Given the description of an element on the screen output the (x, y) to click on. 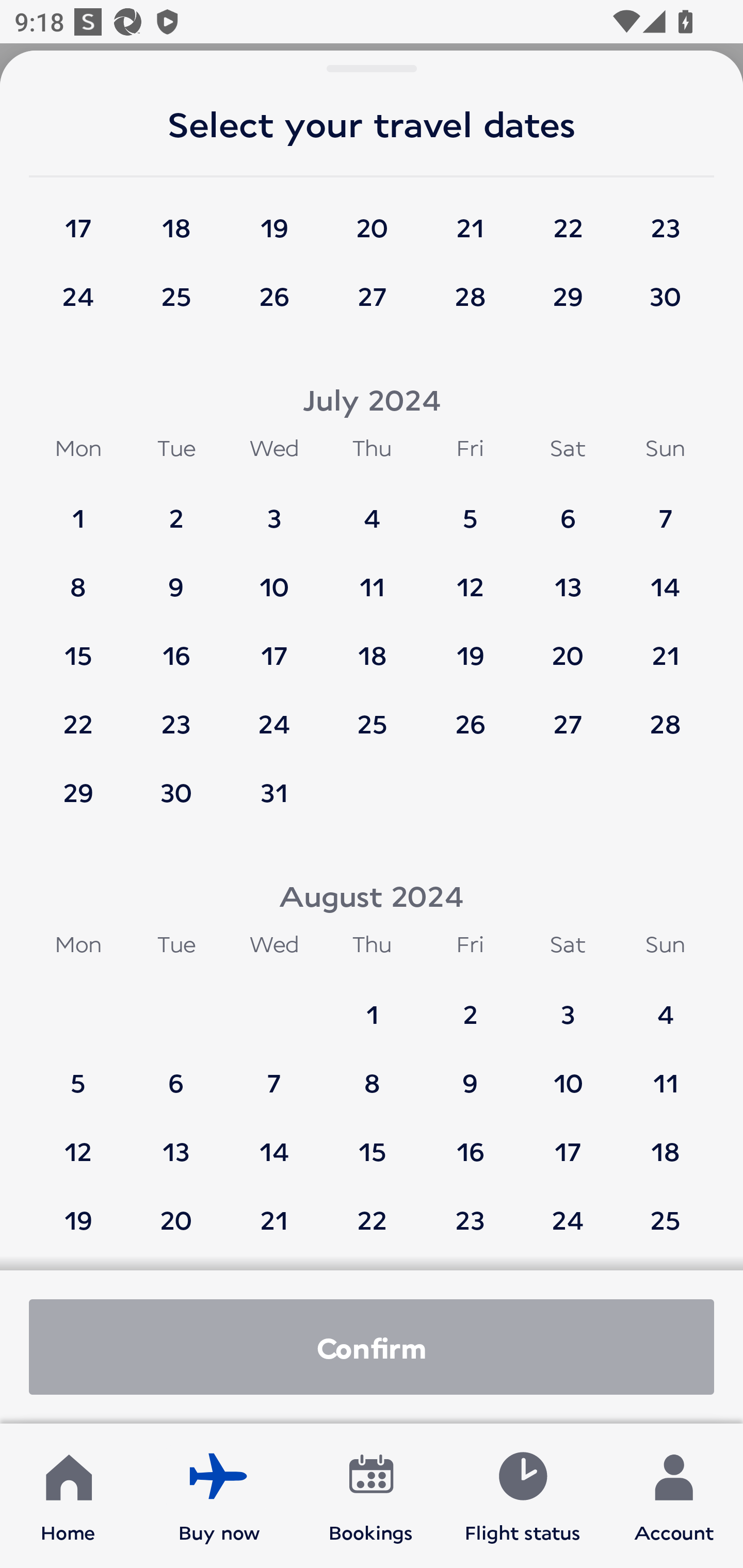
17 (77, 217)
18 (176, 217)
19 (274, 217)
20 (372, 217)
21 (470, 217)
22 (567, 217)
23 (665, 217)
24 (77, 295)
25 (176, 295)
26 (274, 295)
27 (372, 295)
28 (470, 295)
29 (567, 295)
30 (665, 295)
1 (77, 508)
2 (176, 508)
3 (274, 508)
4 (372, 508)
5 (470, 508)
6 (567, 508)
7 (665, 508)
8 (77, 576)
9 (176, 576)
10 (274, 576)
11 (372, 576)
12 (470, 576)
13 (567, 576)
14 (665, 576)
15 (77, 645)
16 (176, 645)
17 (274, 645)
18 (372, 645)
19 (470, 645)
20 (567, 645)
21 (665, 645)
22 (77, 714)
23 (176, 714)
24 (274, 714)
25 (372, 714)
26 (470, 714)
27 (567, 714)
28 (665, 714)
29 (77, 792)
30 (176, 792)
31 (274, 792)
1 (372, 1004)
2 (470, 1004)
3 (567, 1004)
4 (665, 1004)
5 (77, 1073)
6 (176, 1073)
7 (274, 1073)
8 (372, 1073)
9 (470, 1073)
10 (567, 1073)
11 (665, 1073)
12 (77, 1142)
13 (176, 1142)
14 (274, 1142)
15 (372, 1142)
16 (470, 1142)
17 (567, 1142)
18 (665, 1142)
19 (77, 1210)
20 (176, 1210)
21 (274, 1210)
22 (372, 1210)
23 (470, 1210)
24 (567, 1210)
25 (665, 1210)
Confirm (371, 1346)
Home (68, 1495)
Bookings (370, 1495)
Flight status (522, 1495)
Account (674, 1495)
